Given the description of an element on the screen output the (x, y) to click on. 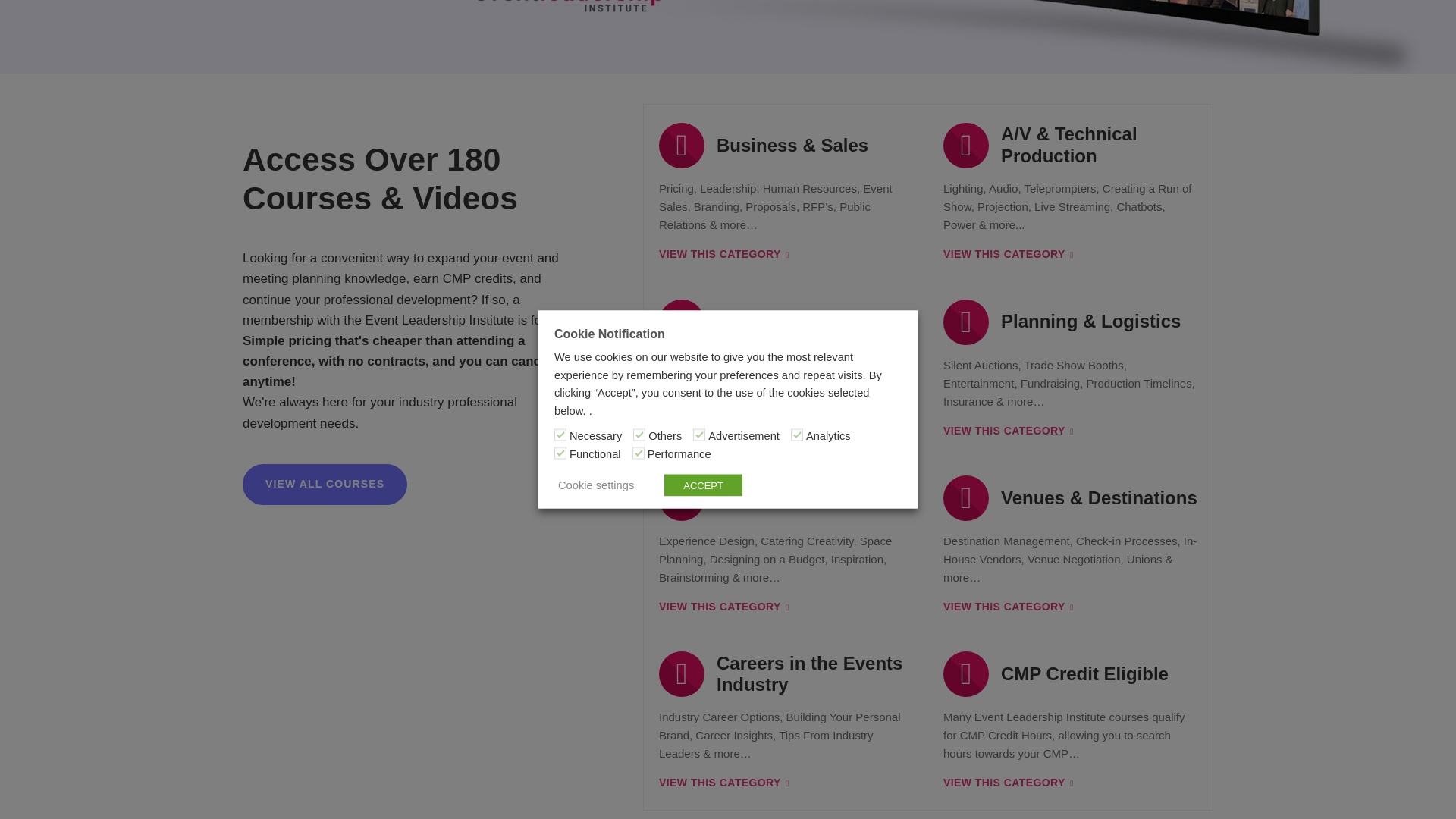
ELI Logo Square Black (576, 7)
